Given the description of an element on the screen output the (x, y) to click on. 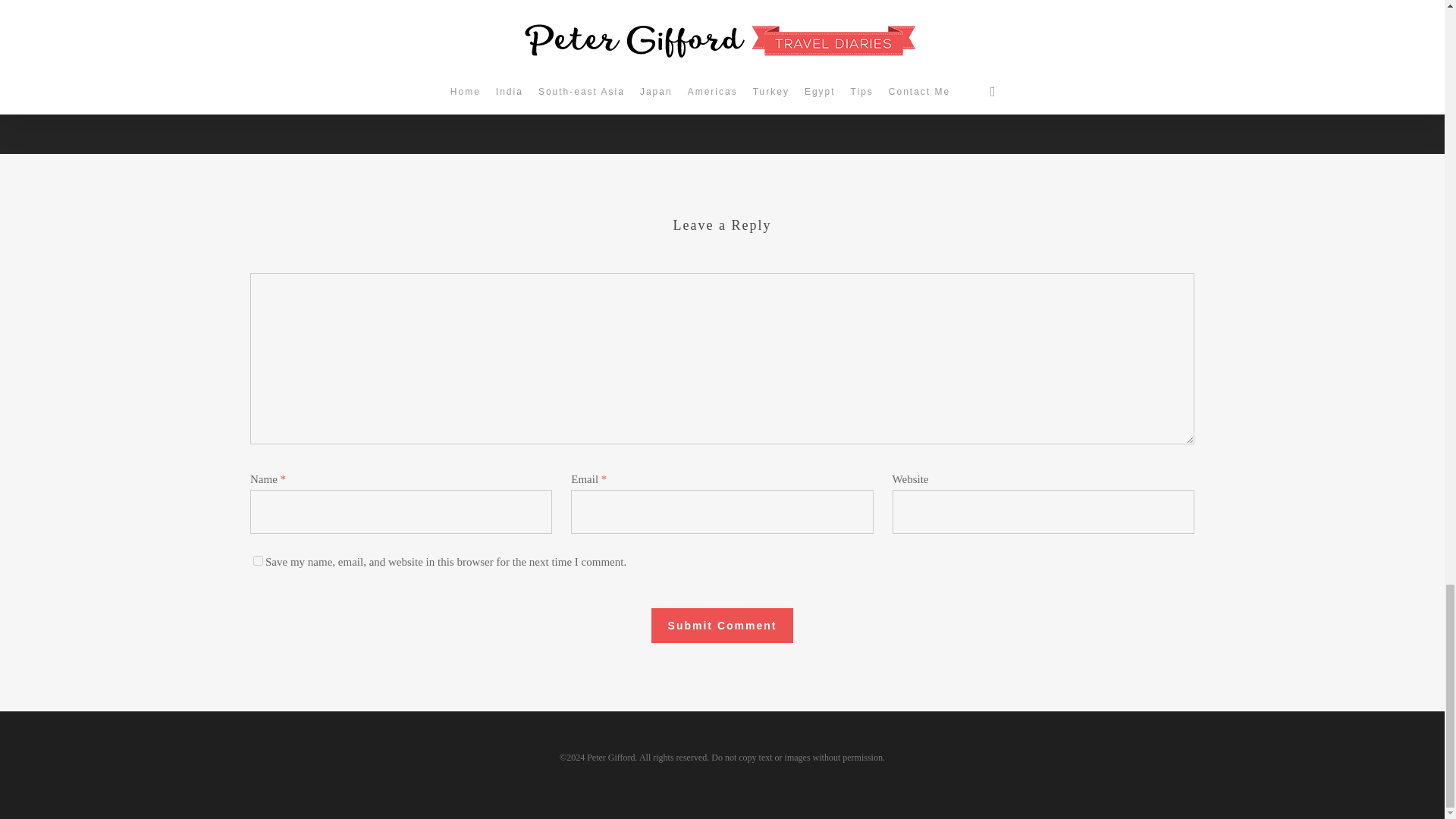
Submit Comment (721, 625)
Submit Comment (721, 625)
yes (258, 560)
